Given the description of an element on the screen output the (x, y) to click on. 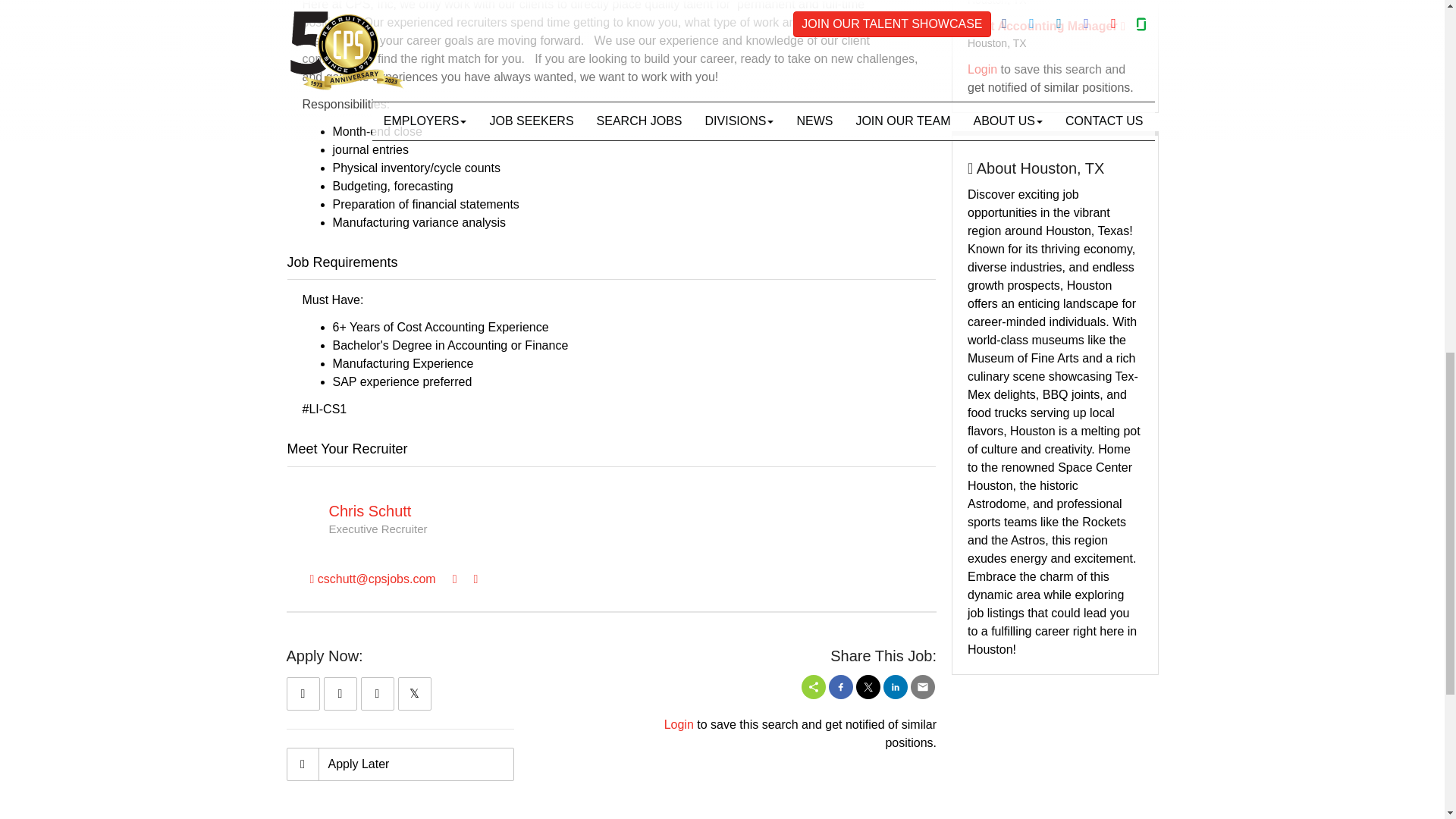
social Facebook (840, 686)
social Twitter (868, 686)
social Email (922, 686)
social Sharethis (813, 686)
click to email (371, 579)
social Linkedin (895, 686)
